Given the description of an element on the screen output the (x, y) to click on. 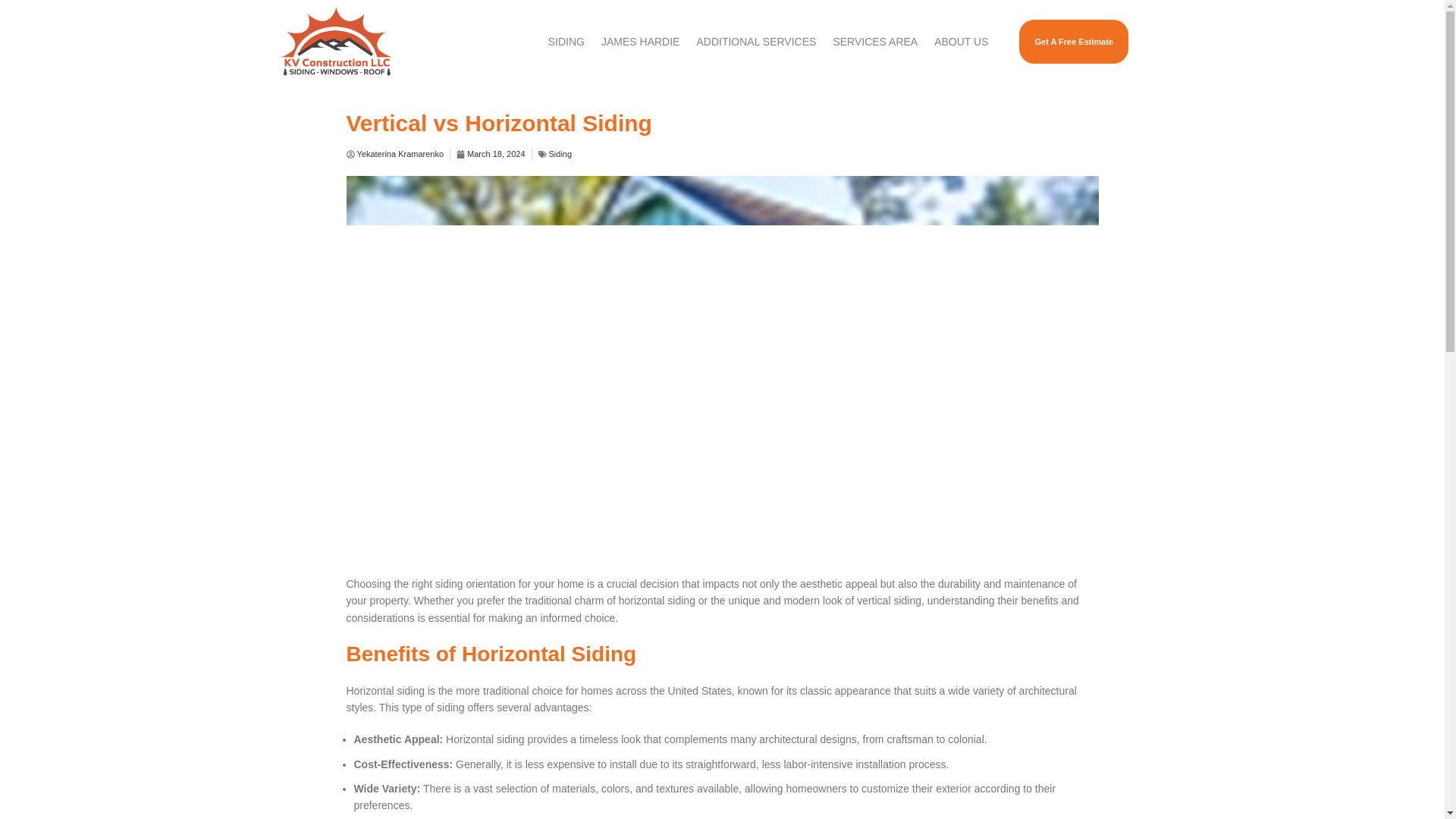
ADDITIONAL SERVICES (755, 41)
JAMES HARDIE (639, 41)
SERVICES AREA (875, 41)
SIDING (566, 41)
ABOUT US (960, 41)
